Given the description of an element on the screen output the (x, y) to click on. 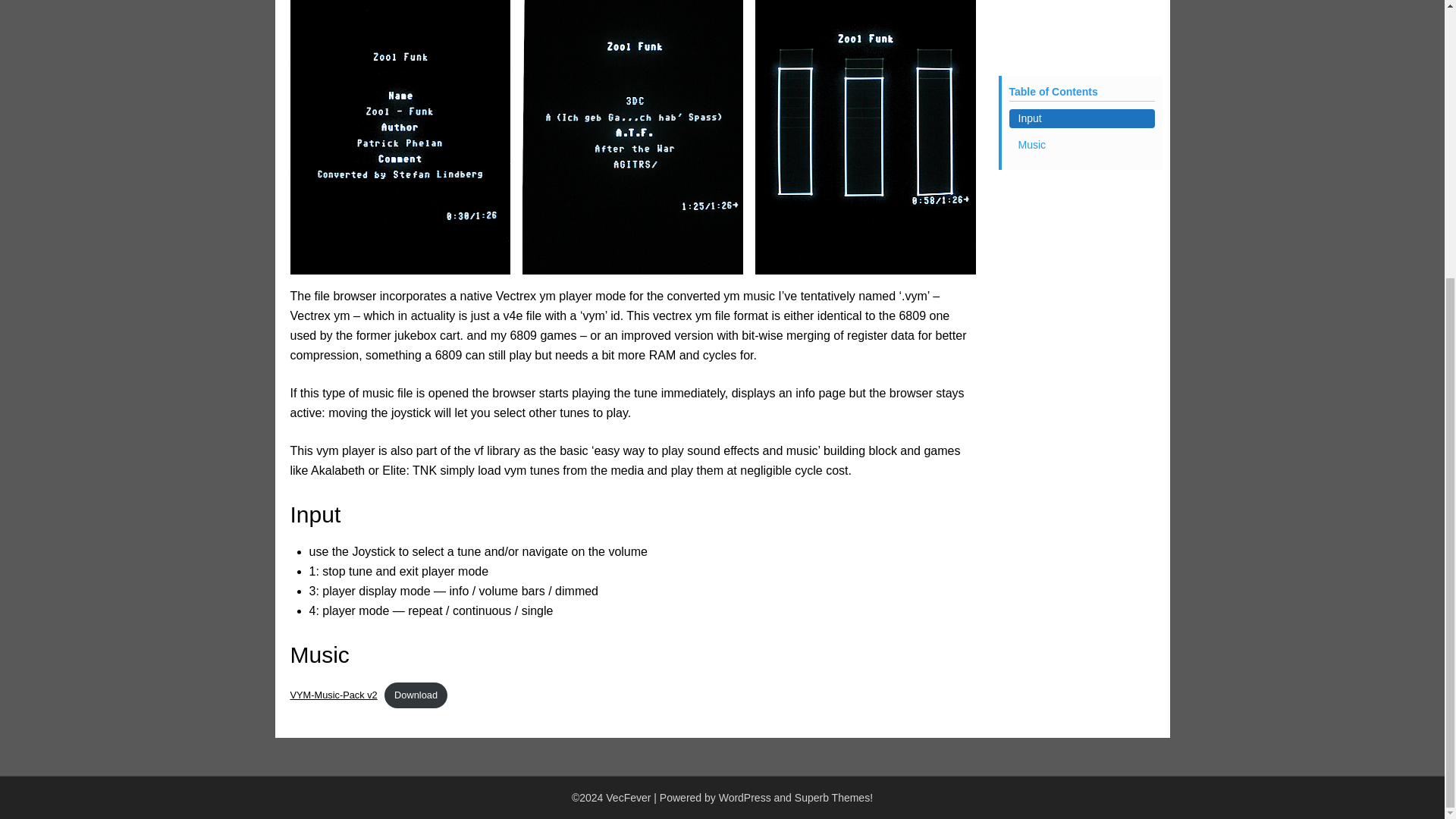
Download (415, 695)
VYM-Music-Pack v2 (333, 695)
Superb Themes! (833, 797)
